Given the description of an element on the screen output the (x, y) to click on. 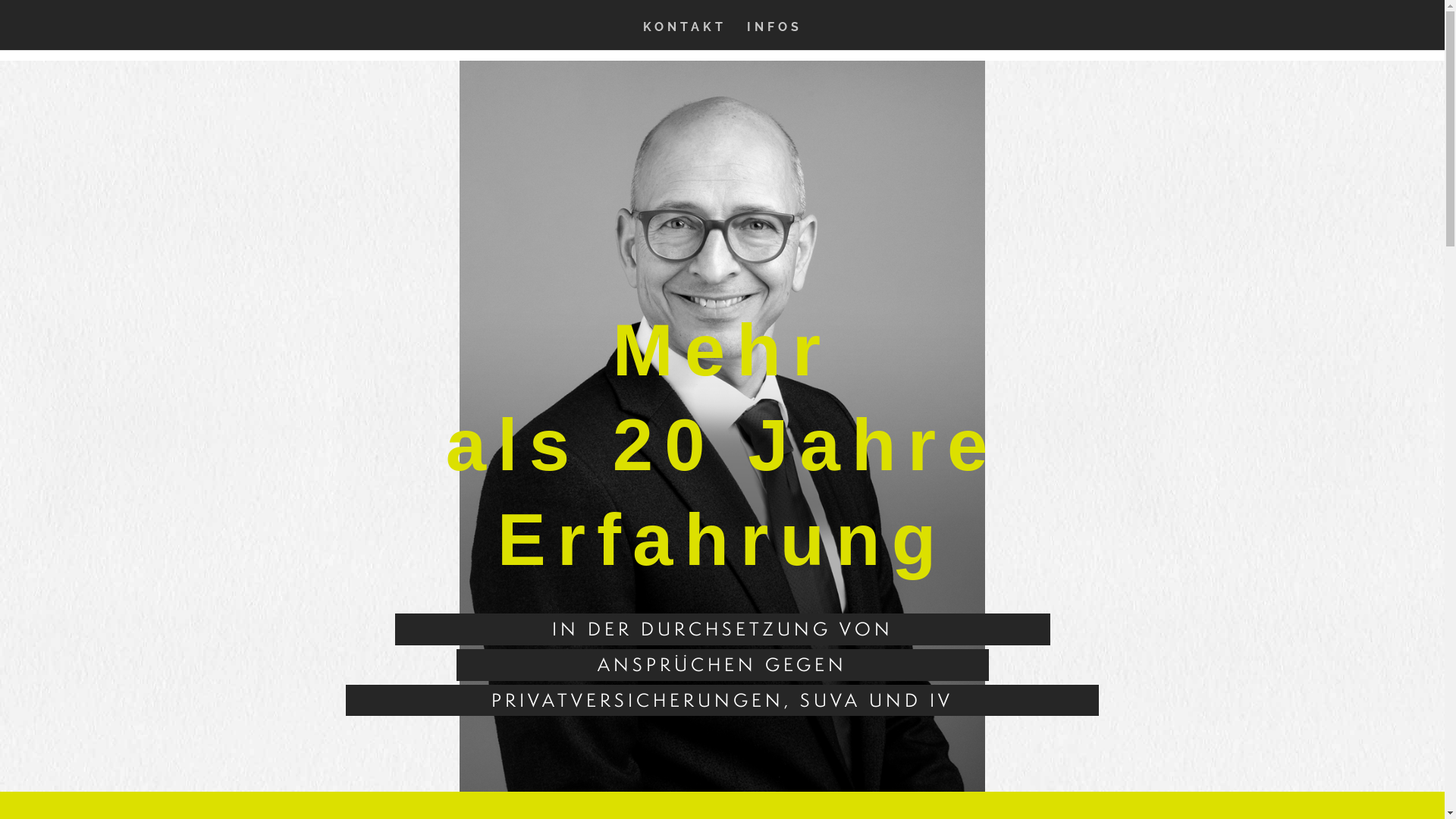
KONTAKT Element type: text (684, 35)
INFOS Element type: text (773, 35)
